Given the description of an element on the screen output the (x, y) to click on. 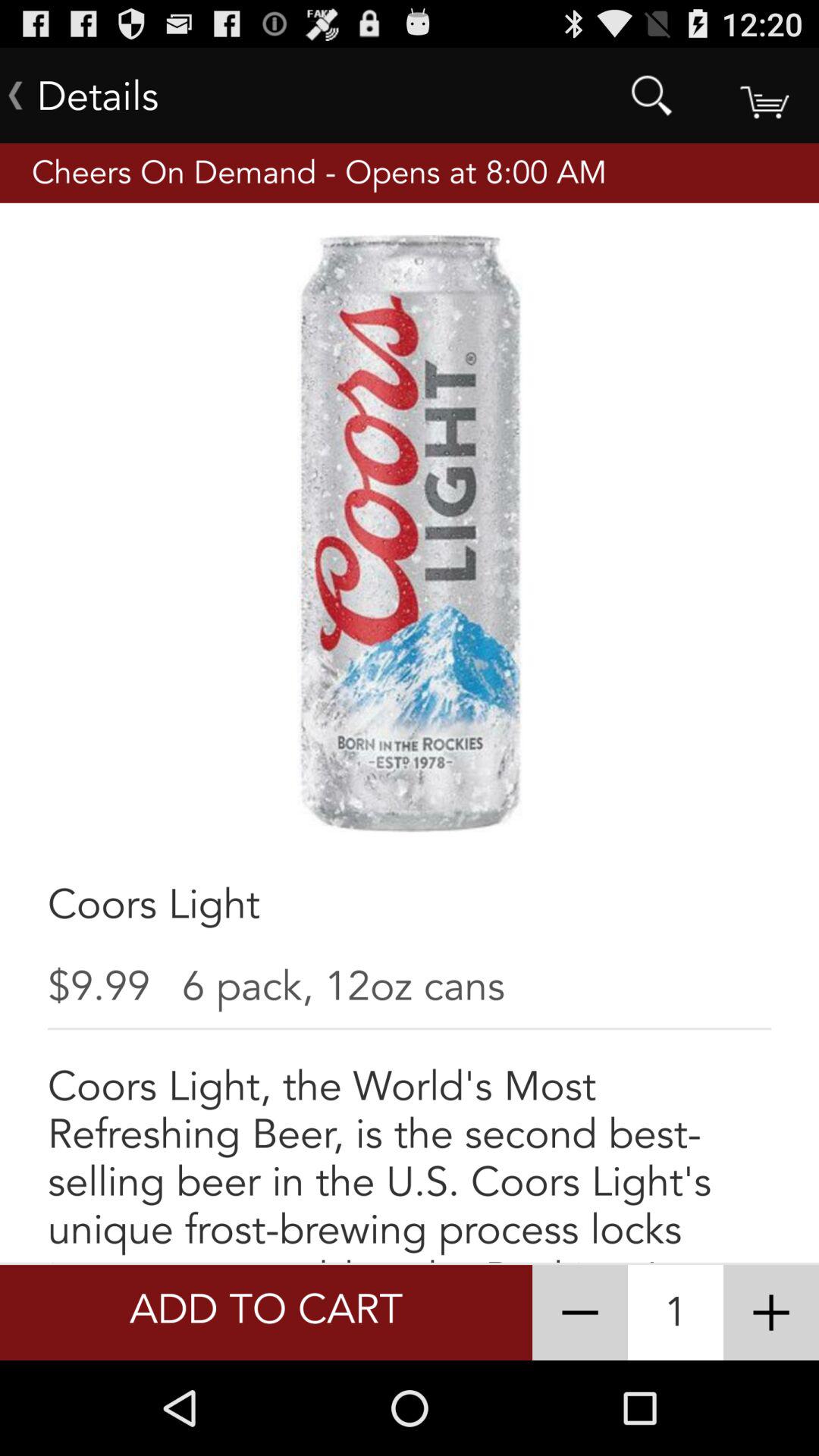
turn off item to the right of the add to cart icon (579, 1312)
